Given the description of an element on the screen output the (x, y) to click on. 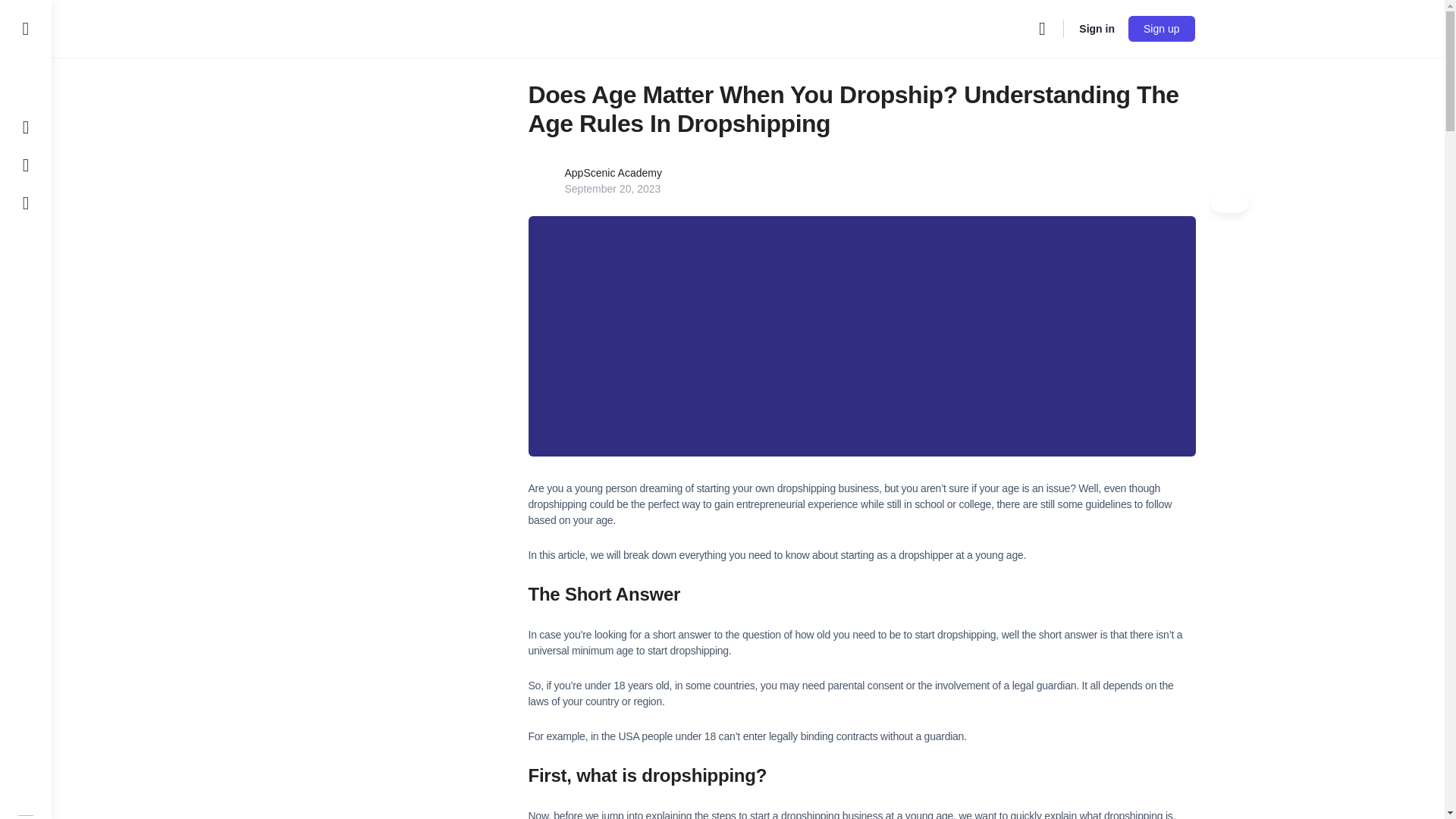
AppScenic Academy (612, 173)
Sign in (1097, 28)
September 20, 2023 (612, 188)
Sign up (1160, 28)
